Given the description of an element on the screen output the (x, y) to click on. 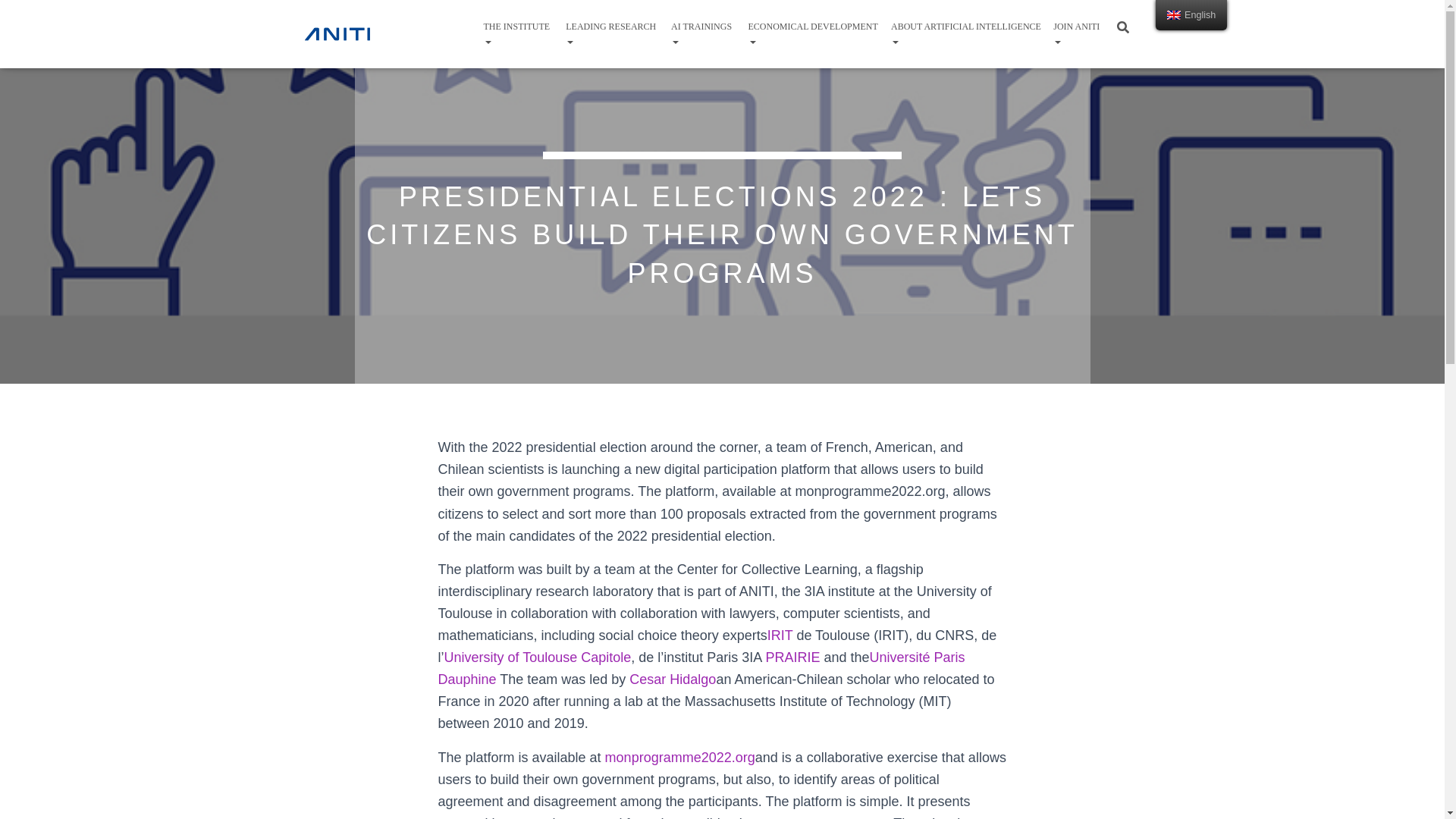
LEADING RESEARCH (614, 33)
ECONOMICAL DEVELOPMENT (815, 33)
ANITI (337, 34)
AI TRAININGS (705, 33)
JOIN ANITI (1080, 33)
THE INSTITUTE (520, 33)
ABOUT ARTIFICIAL INTELLIGENCE (967, 33)
LEADING RESEARCH (614, 33)
